Given the description of an element on the screen output the (x, y) to click on. 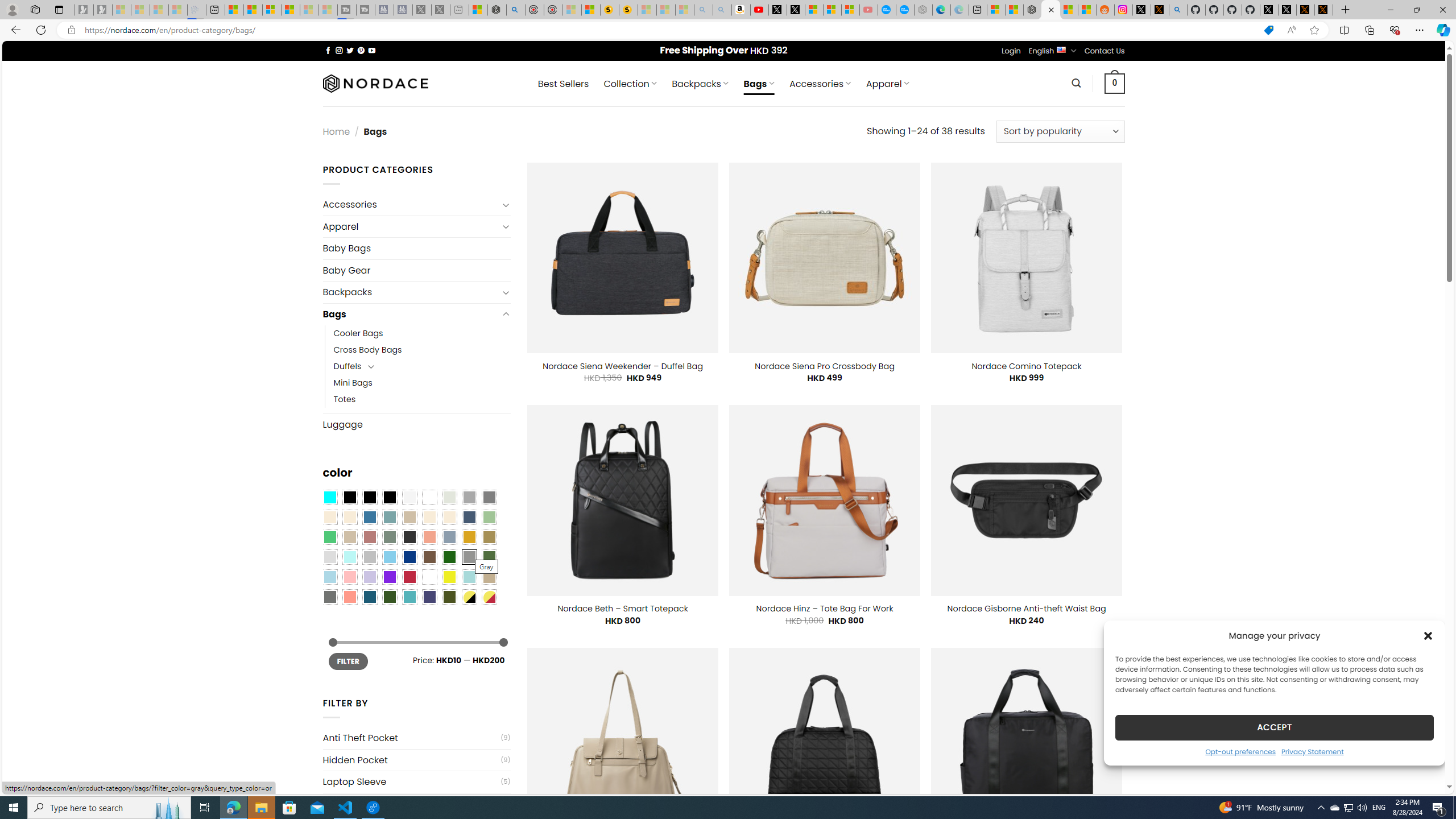
Purple Navy (429, 596)
Dusty Blue (449, 536)
Forest (389, 596)
White (429, 577)
Navy Blue (408, 557)
Black (369, 497)
Yellow-Red (488, 596)
Light Gray (329, 557)
Kelp (488, 536)
